Given the description of an element on the screen output the (x, y) to click on. 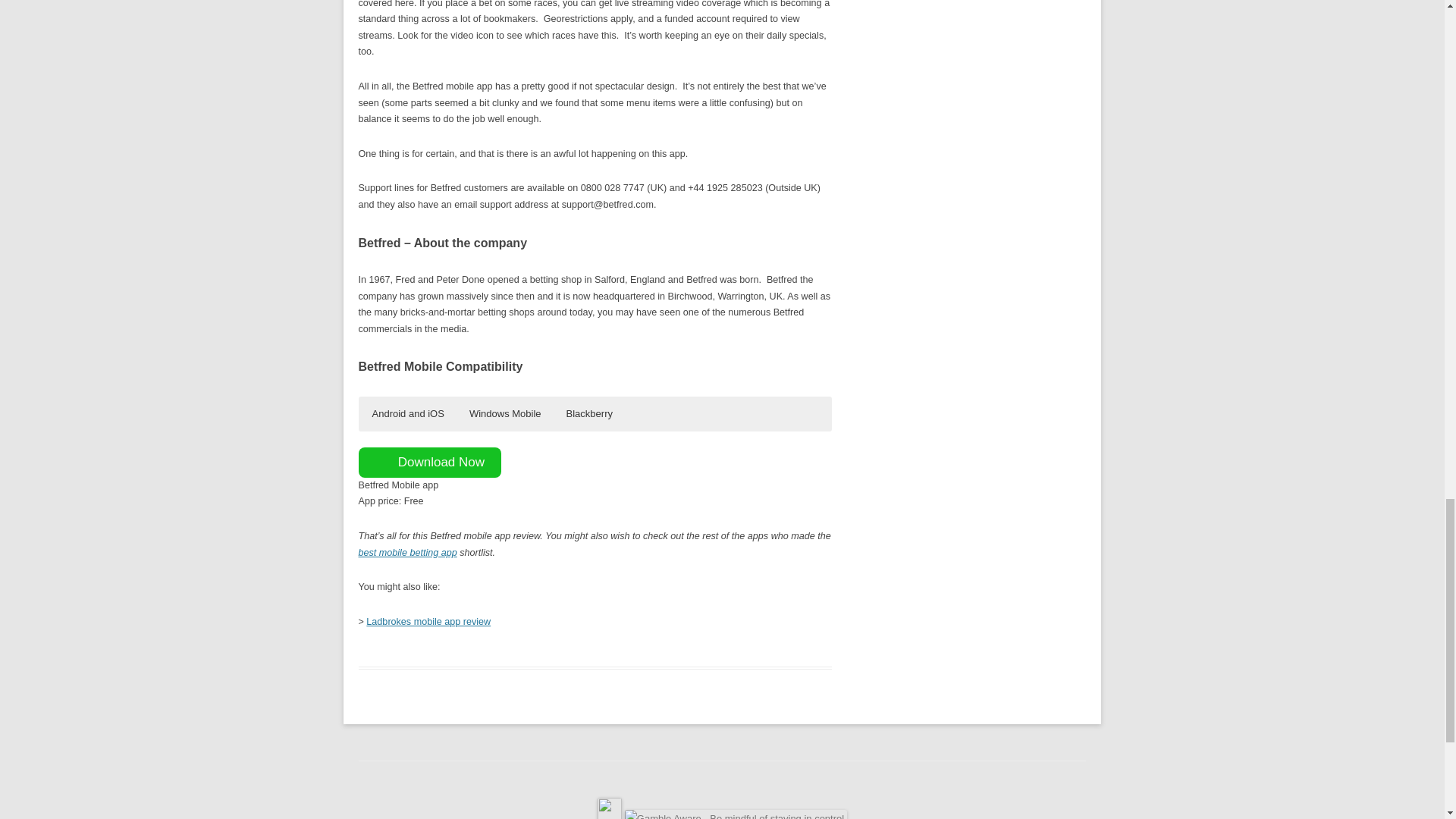
Download Now (429, 462)
best mobile betting app (407, 552)
Ladbrokes mobile app review (428, 621)
